Given the description of an element on the screen output the (x, y) to click on. 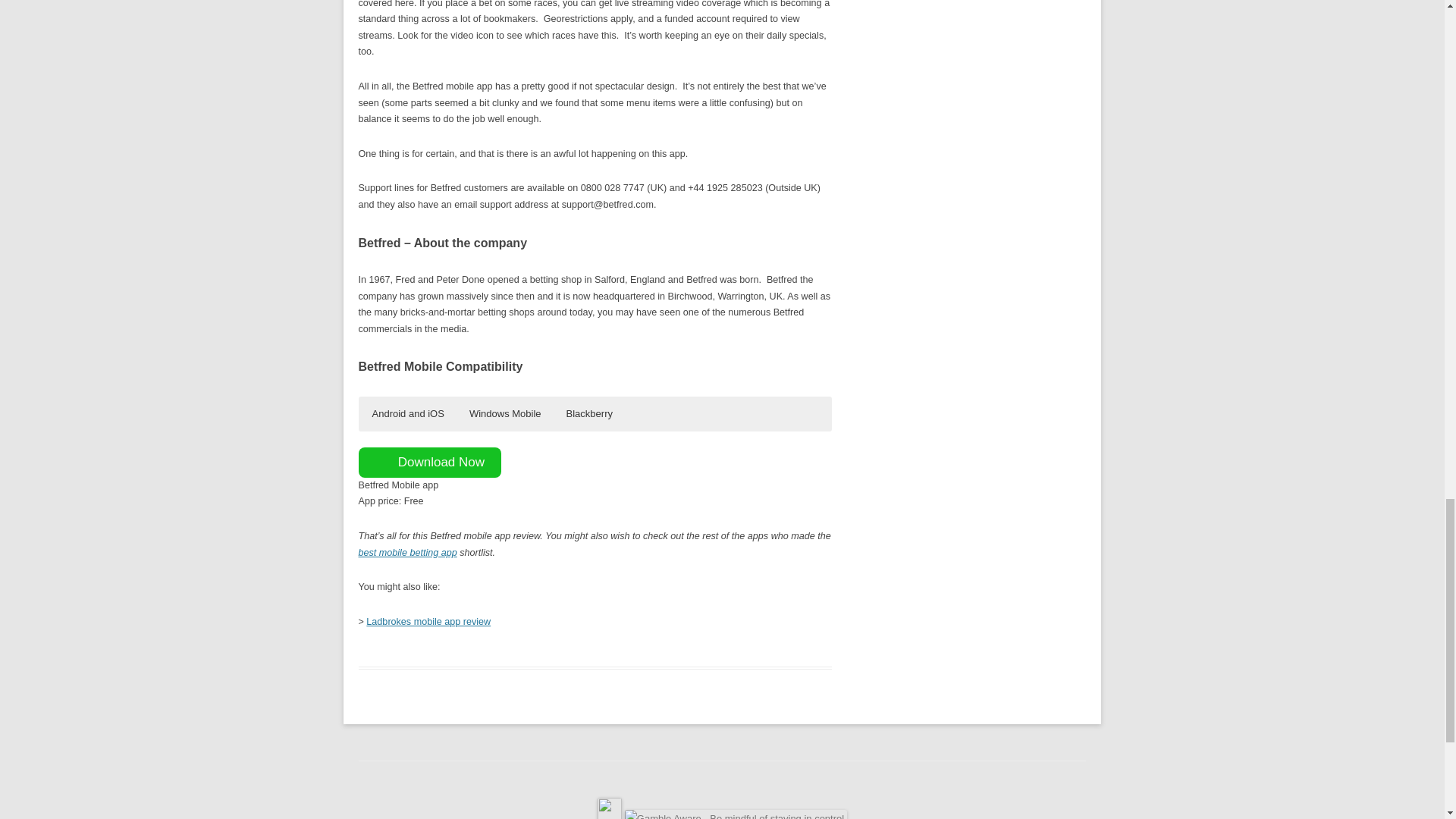
Download Now (429, 462)
best mobile betting app (407, 552)
Ladbrokes mobile app review (428, 621)
